Given the description of an element on the screen output the (x, y) to click on. 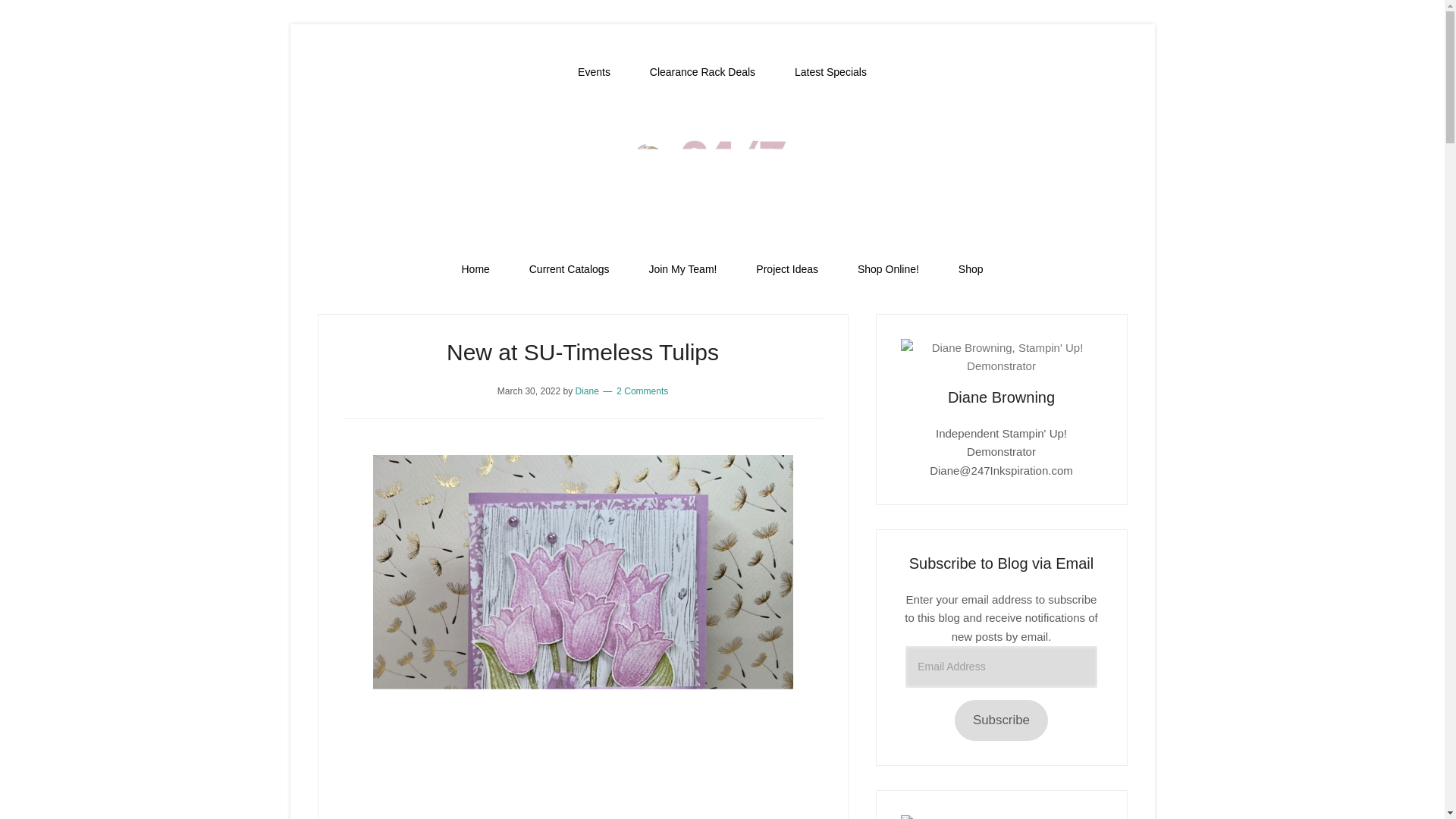
Latest Specials (830, 71)
Diane (586, 390)
Shop Online! (888, 268)
Project Ideas (786, 268)
Events (593, 71)
2 Comments (641, 390)
Current Catalogs (569, 268)
Clearance Rack Deals (702, 71)
Home (474, 268)
